Given the description of an element on the screen output the (x, y) to click on. 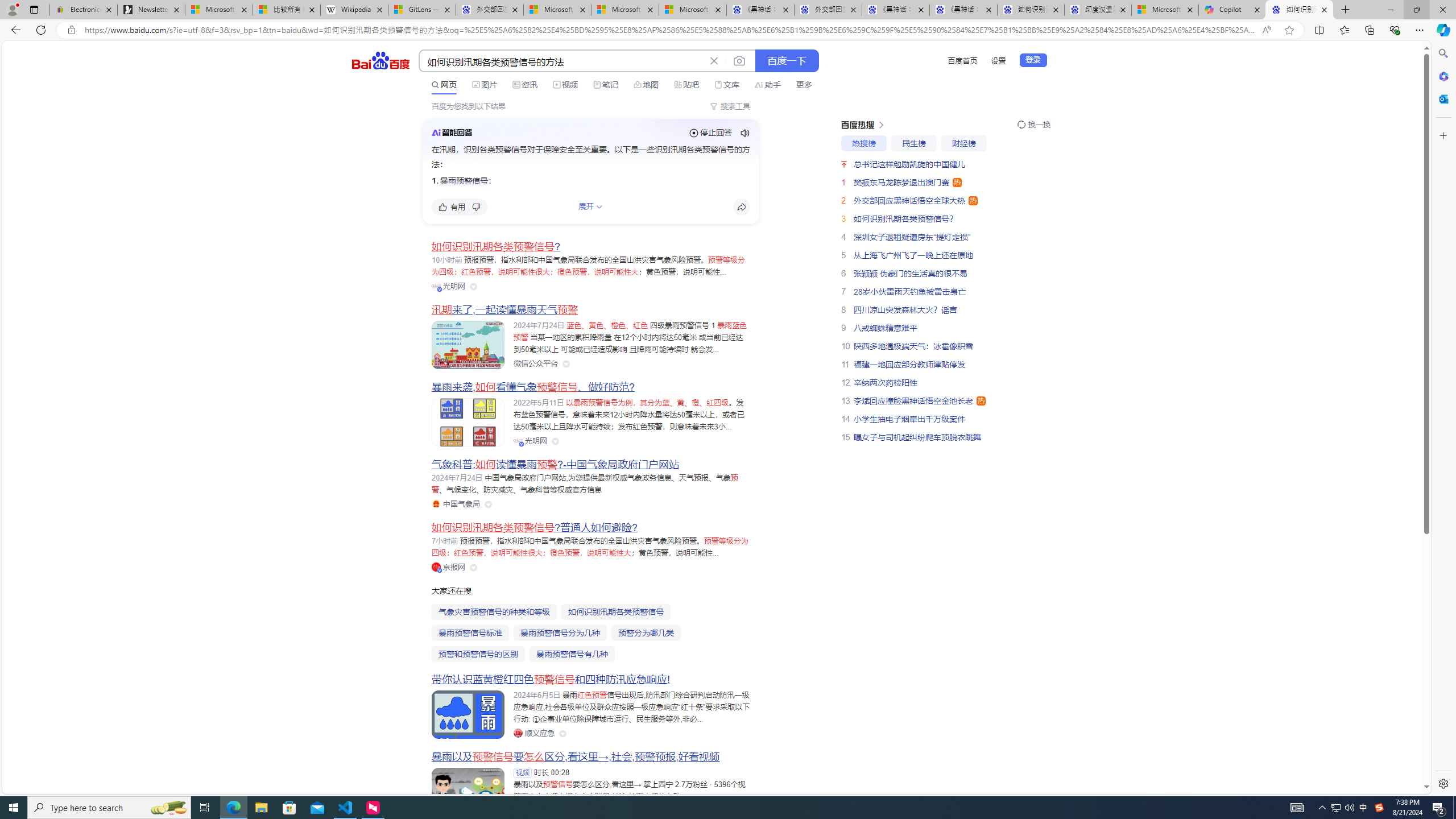
Side bar (1443, 418)
Microsoft 365 (1442, 76)
Close tab (1324, 9)
